Given the description of an element on the screen output the (x, y) to click on. 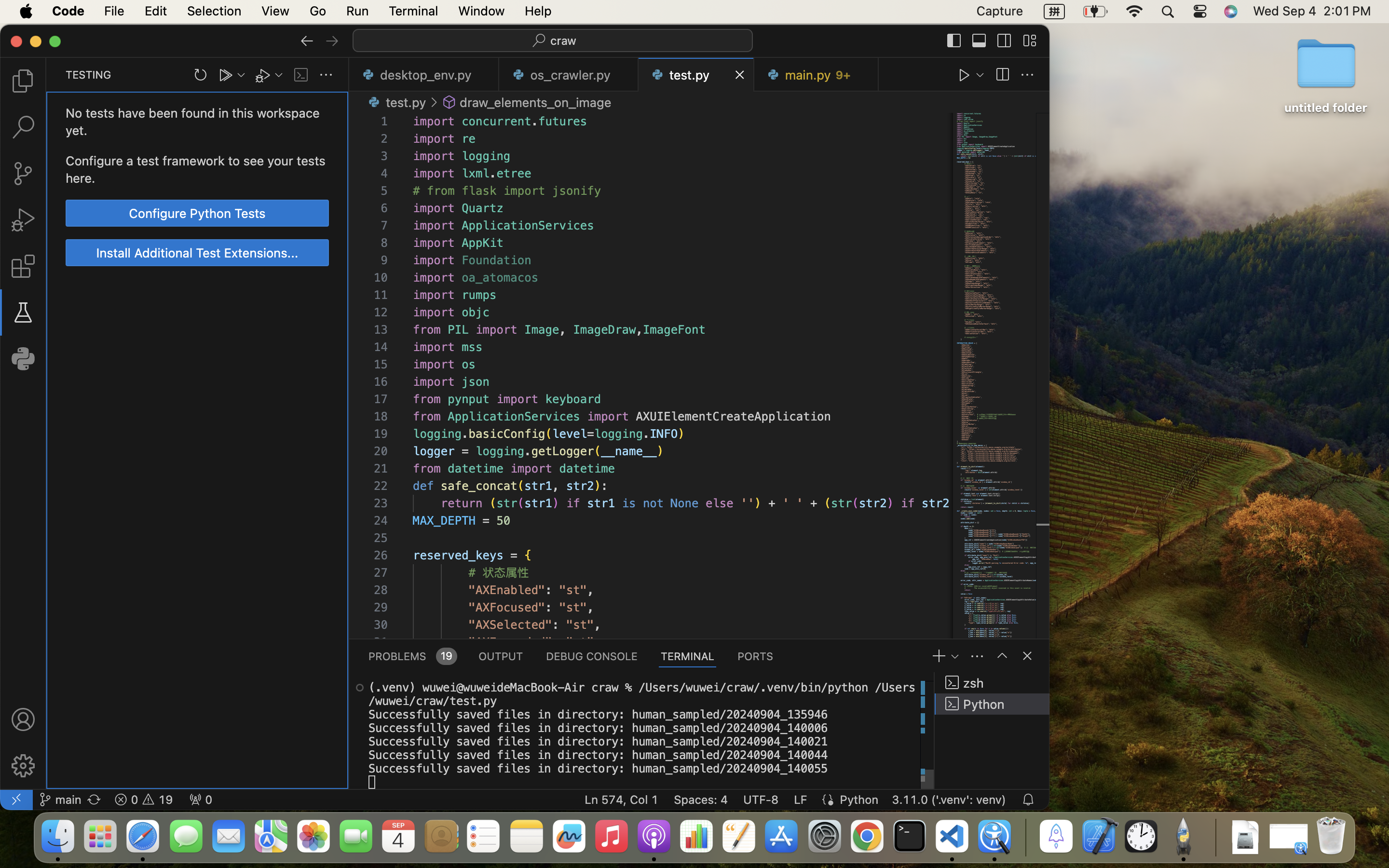
0 os_crawler.py   Element type: AXRadioButton (568, 74)
0 desktop_env.py   Element type: AXRadioButton (424, 74)
0  Element type: AXRadioButton (23, 219)
test.py  Element type: AXGroup (395, 101)
 Element type: AXStaticText (359, 687)
